Given the description of an element on the screen output the (x, y) to click on. 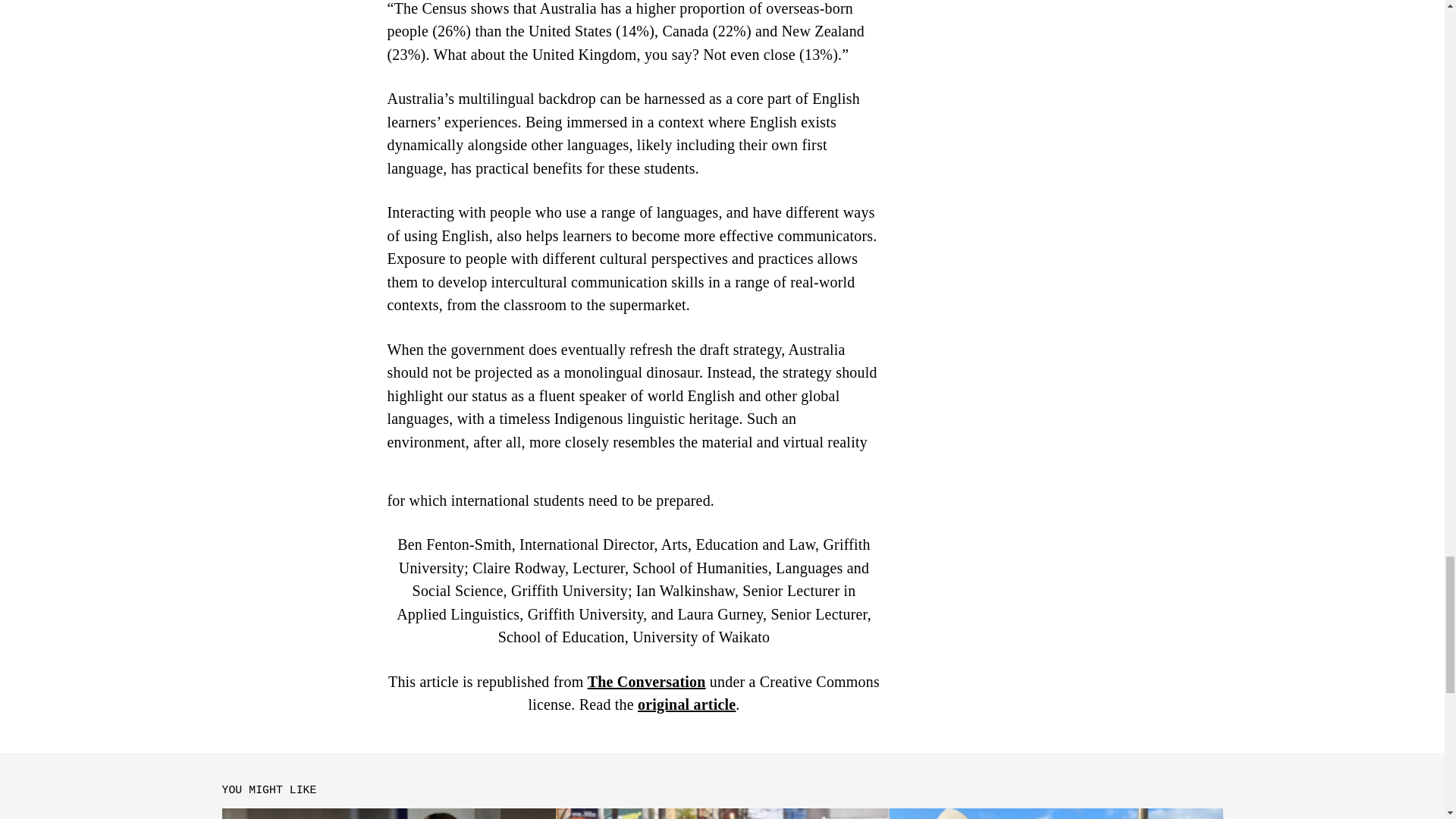
original article (686, 704)
The Conversation (647, 681)
